Given the description of an element on the screen output the (x, y) to click on. 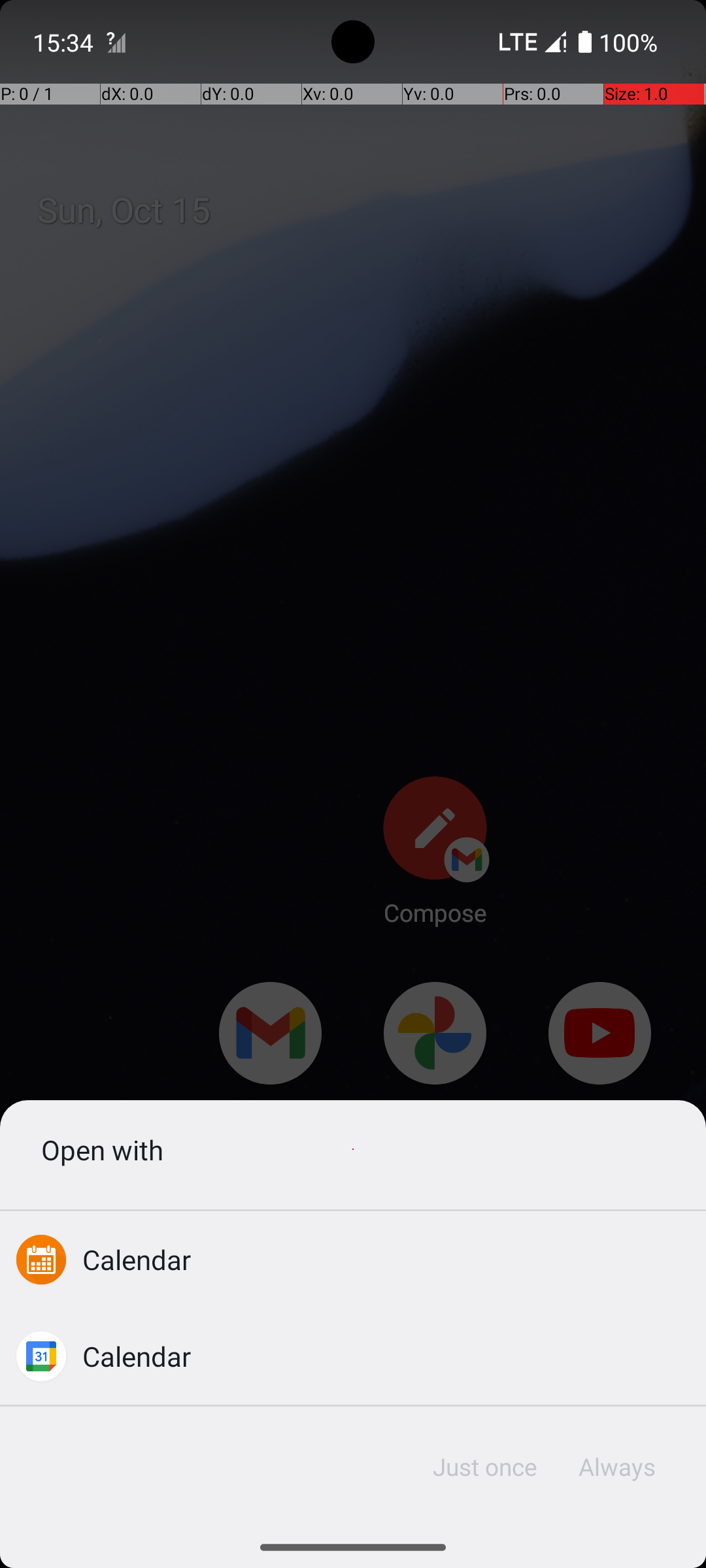
Open with Element type: android.widget.TextView (352, 1149)
Android System notification: Sign in to network Element type: android.widget.ImageView (115, 41)
